Given the description of an element on the screen output the (x, y) to click on. 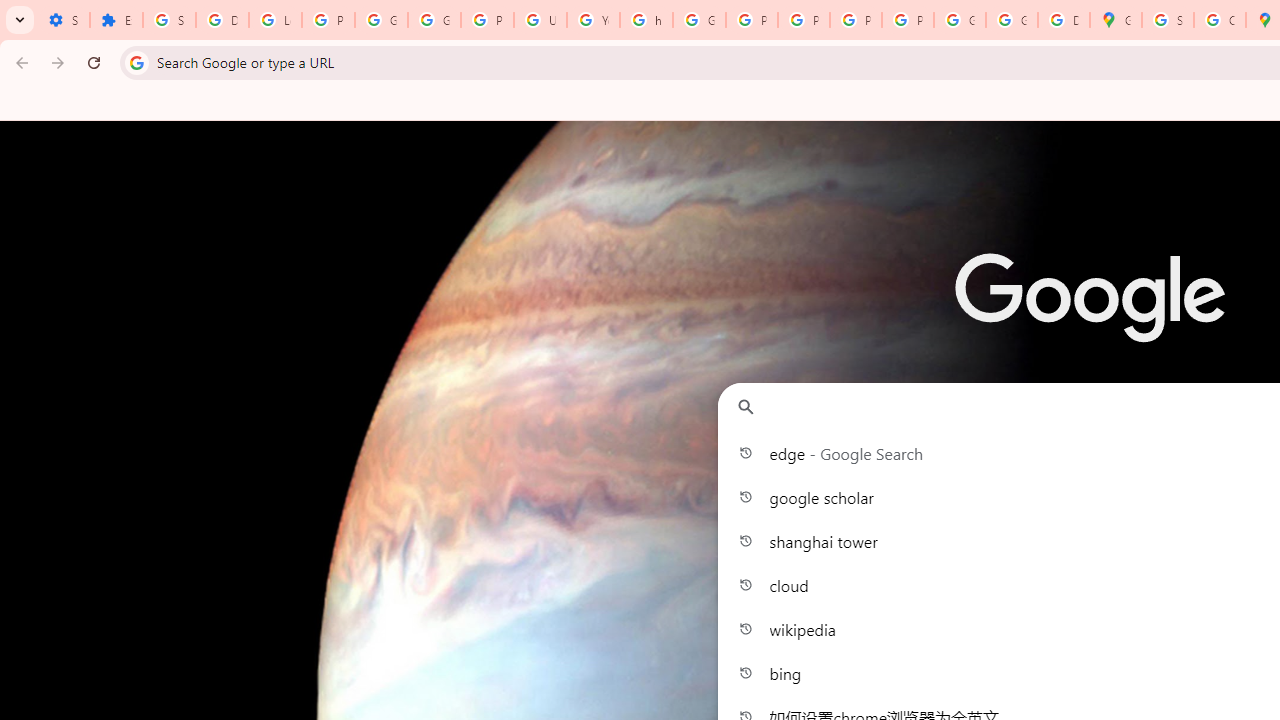
Remove (1186, 466)
Learn how to find your photos - Google Photos Help (275, 20)
Privacy Help Center - Policies Help (751, 20)
https://scholar.google.com/ (646, 20)
Search icon (136, 62)
Delete photos & videos - Computer - Google Photos Help (222, 20)
Sign in - Google Accounts (169, 20)
Extensions (116, 20)
YouTube (593, 20)
